Given the description of an element on the screen output the (x, y) to click on. 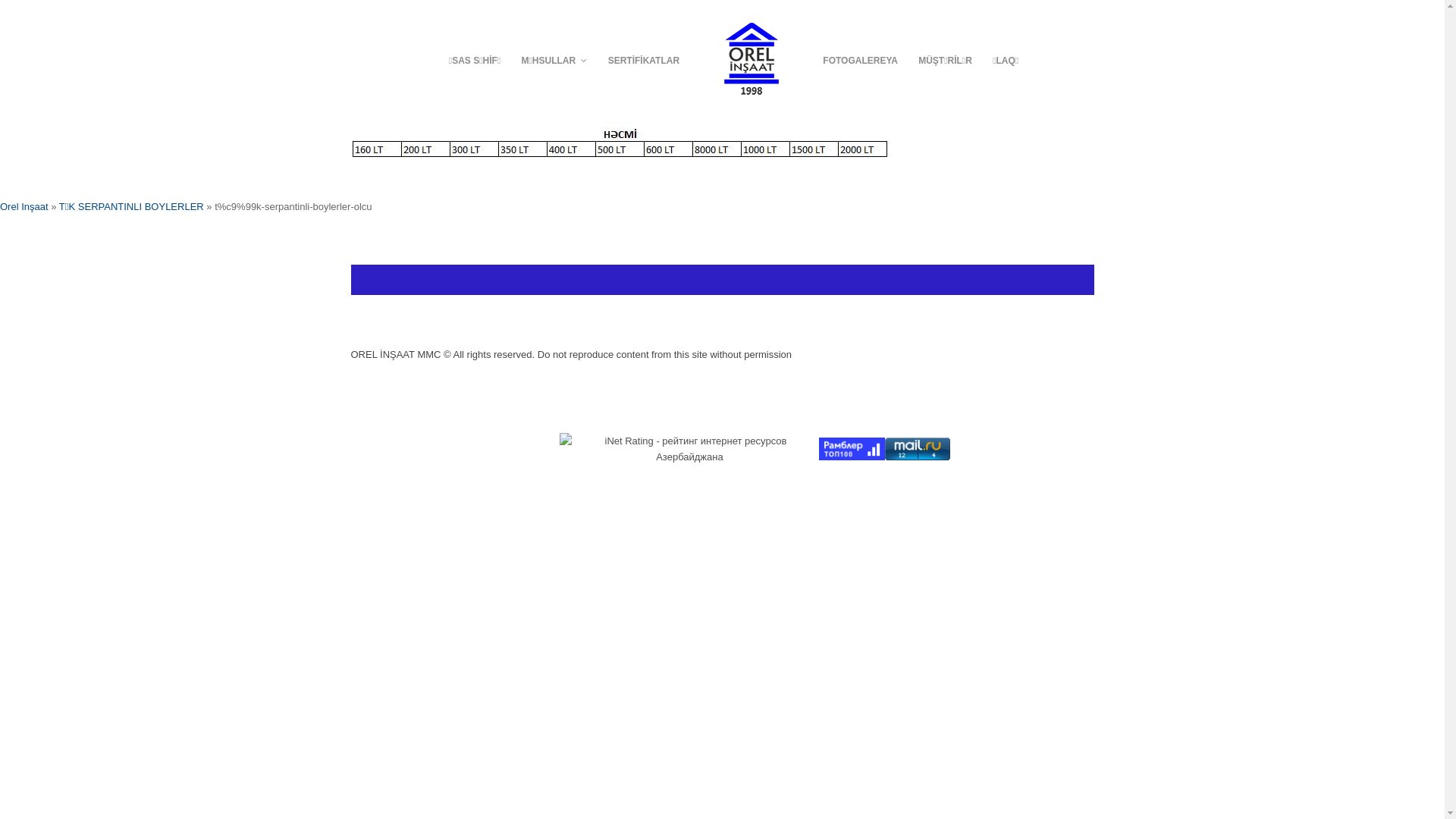
Site development Element type: text (389, 370)
Rambler's Top100 Element type: hover (851, 448)
FOTOGALEREYA Element type: text (860, 60)
